Given the description of an element on the screen output the (x, y) to click on. 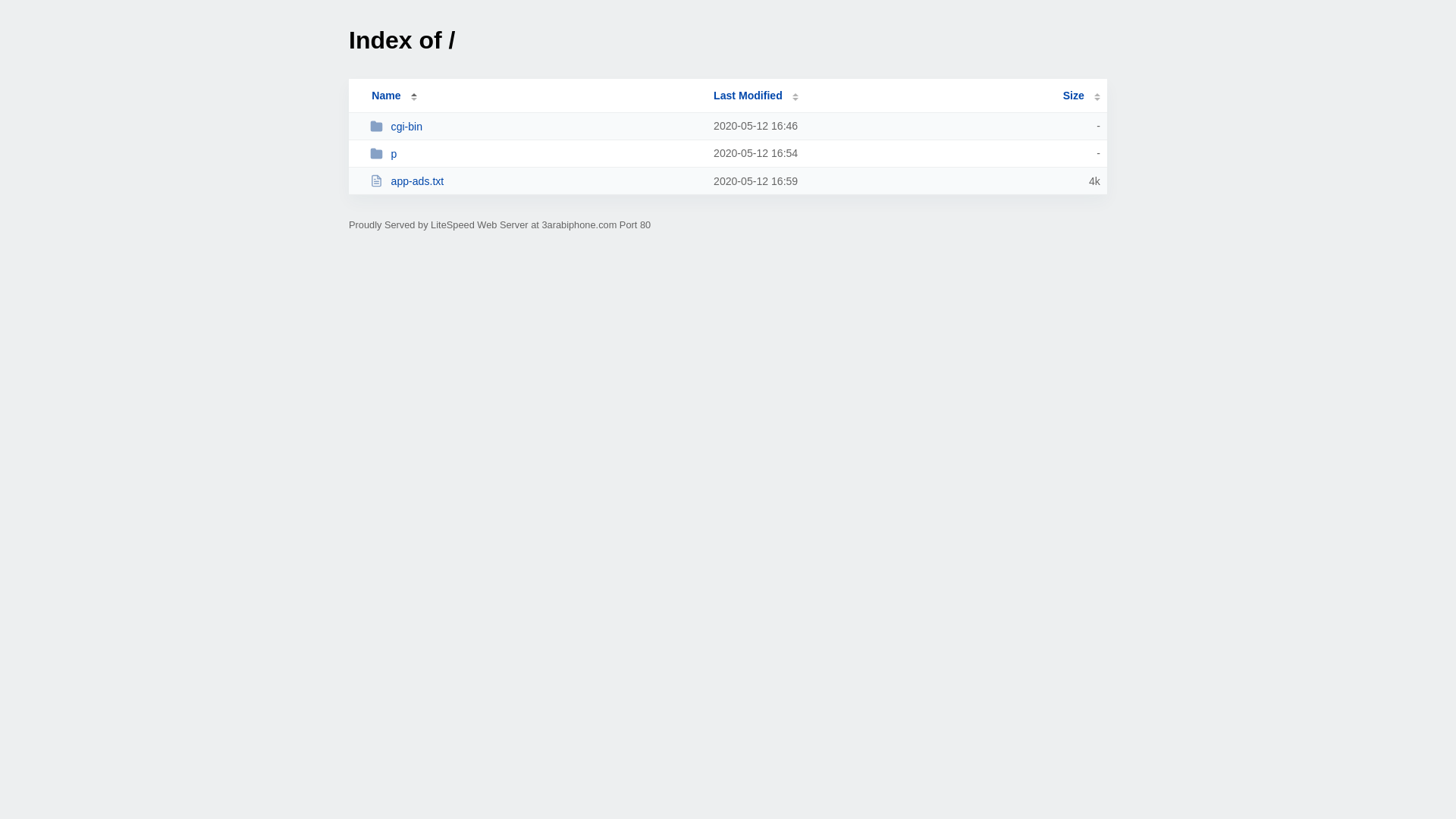
Last Modified Element type: text (755, 95)
p Element type: text (534, 153)
Name Element type: text (385, 95)
cgi-bin Element type: text (534, 125)
app-ads.txt Element type: text (534, 180)
Size Element type: text (1081, 95)
